Given the description of an element on the screen output the (x, y) to click on. 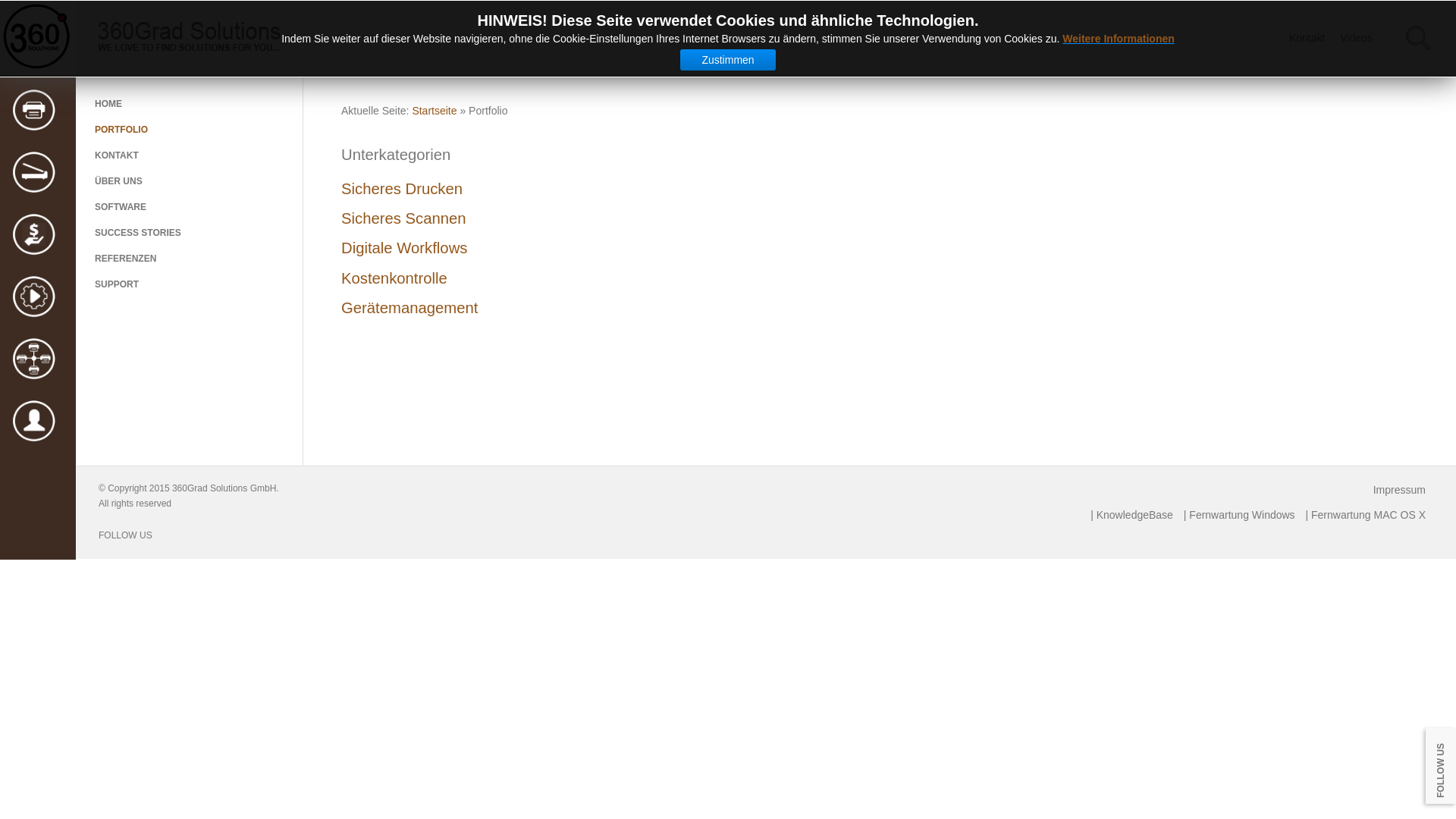
Device Management Solutions Element type: hover (34, 359)
Cost Saving Solutions Element type: hover (34, 234)
Kontakt Element type: text (1306, 37)
KONTAKT Element type: text (188, 155)
Impressum Element type: text (1399, 489)
SOFTWARE Element type: text (188, 206)
FOLLOW US Element type: text (125, 533)
| Fernwartung Windows Element type: text (1239, 514)
Sicheres Scannen Element type: text (879, 218)
Secure Print Solutions Element type: hover (34, 110)
Workflows  Solutions Element type: hover (34, 296)
SUCCESS STORIES Element type: text (188, 232)
| Fernwartung MAC OS X Element type: text (1365, 514)
Videos Element type: text (1355, 37)
HOME Element type: text (188, 103)
Sicheres Drucken Element type: text (879, 188)
SUPPORT Element type: text (188, 284)
Digitale Workflows Element type: text (879, 247)
Weitere Informationen Element type: text (1118, 38)
Kostenkontrolle Element type: text (879, 278)
Secure Scan Solutions Element type: hover (34, 172)
Startseite Element type: text (433, 110)
| KnowledgeBase Element type: text (1131, 514)
REFERENZEN Element type: text (188, 258)
PORTFOLIO Element type: text (188, 129)
Service & Support Element type: hover (34, 421)
